Given the description of an element on the screen output the (x, y) to click on. 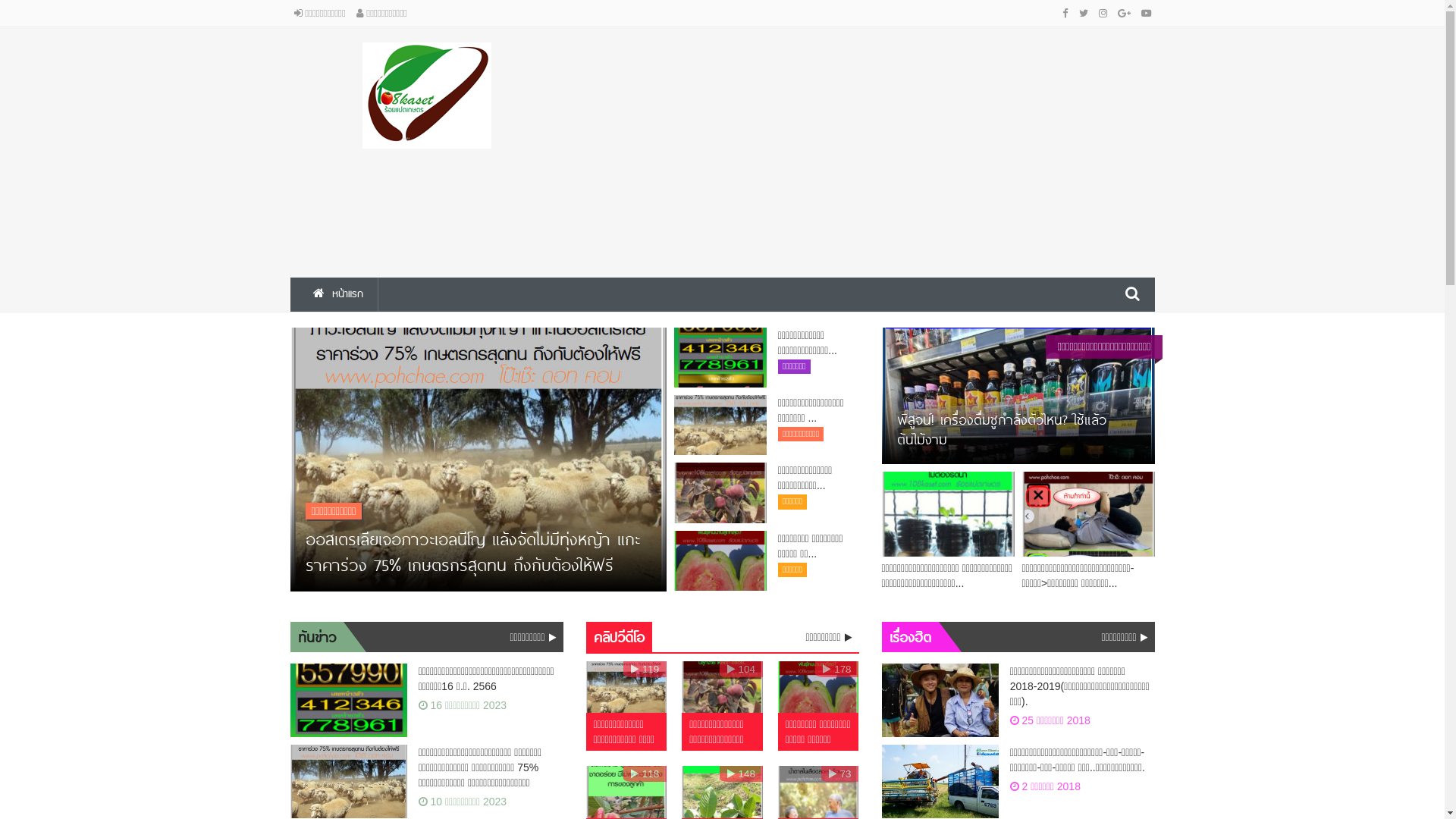
Advertisement Element type: hover (869, 148)
